Given the description of an element on the screen output the (x, y) to click on. 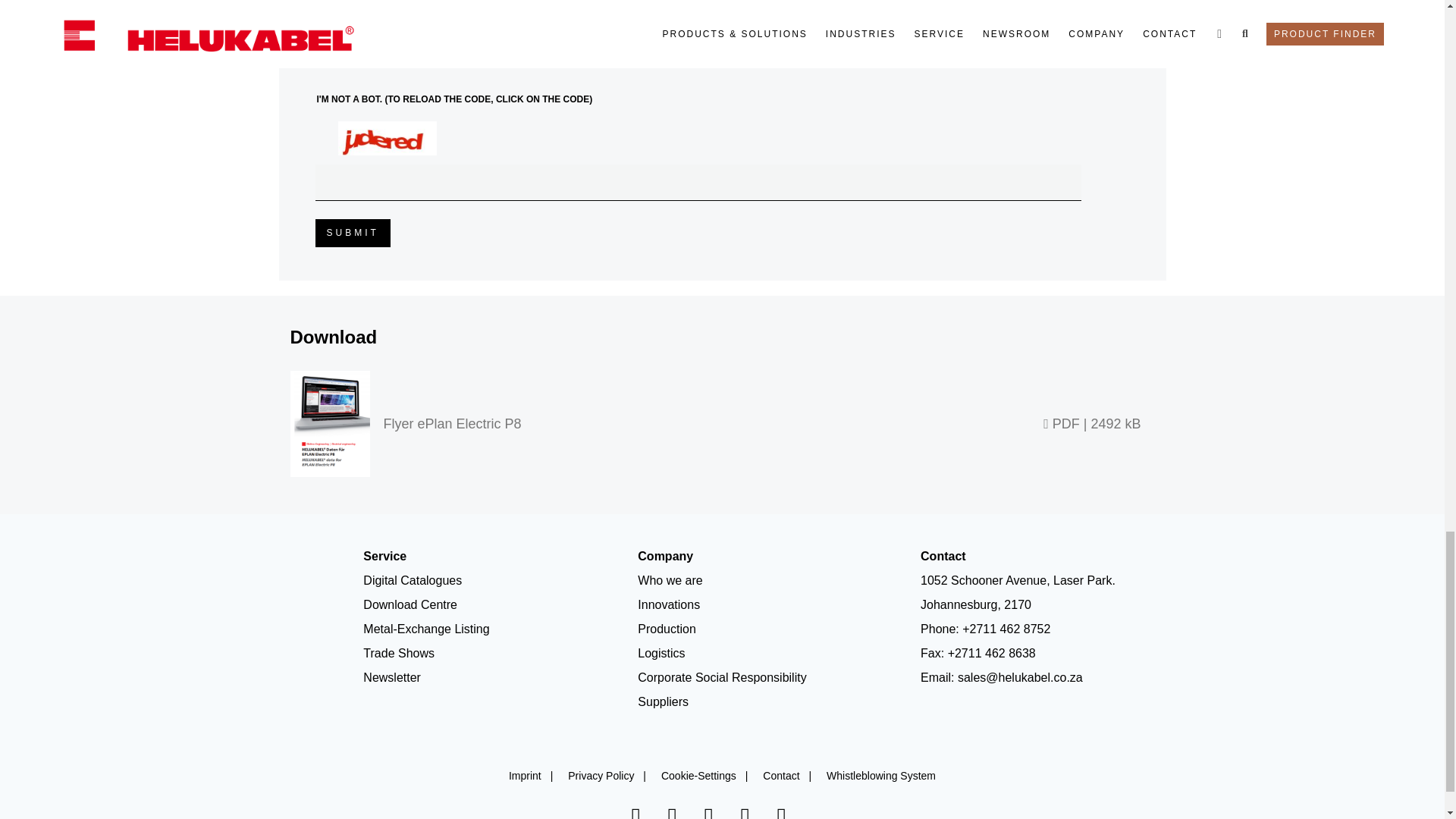
Submit (352, 233)
